Given the description of an element on the screen output the (x, y) to click on. 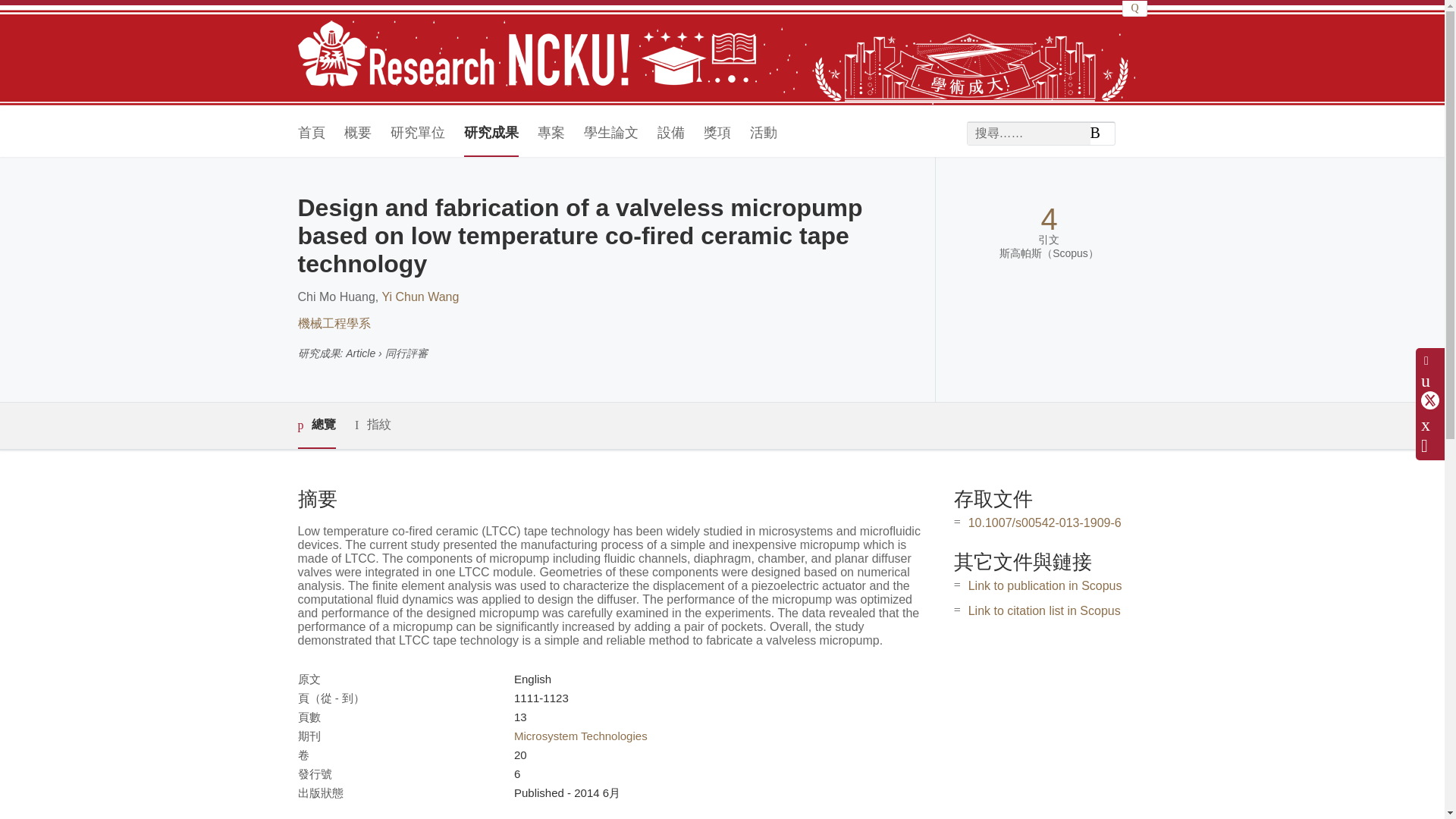
Microsystem Technologies (580, 735)
Yi Chun Wang (419, 296)
Link to citation list in Scopus (1044, 610)
Link to publication in Scopus (1045, 585)
